Given the description of an element on the screen output the (x, y) to click on. 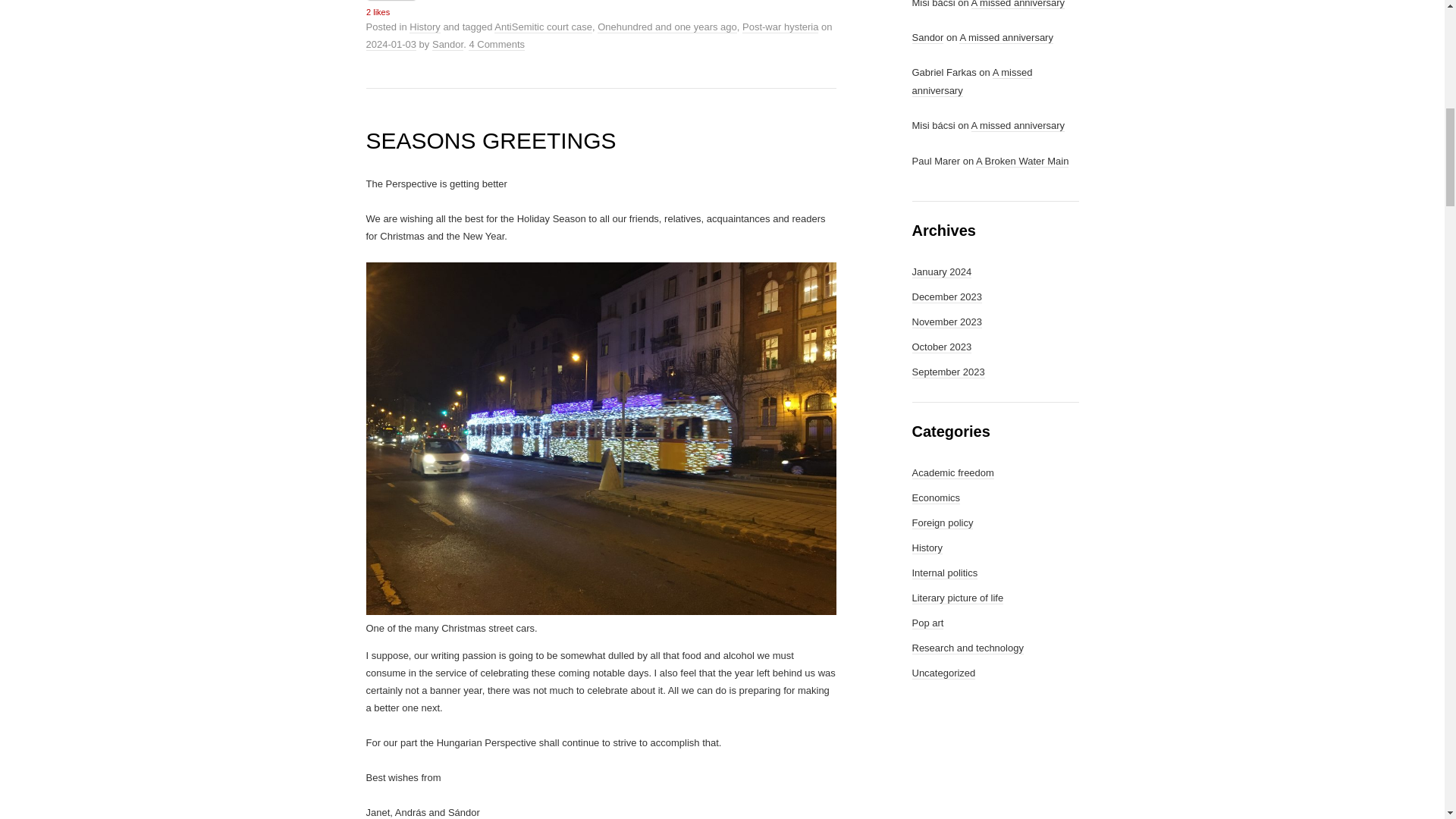
Like or Reblog (600, 9)
AntiSemitic court case (543, 27)
Onehundred and one years ago (666, 27)
History (424, 27)
SEASONS GREETINGS (490, 140)
10:34 pm (390, 44)
4 Comments (496, 44)
Sandor (447, 44)
View all posts by Sandor (447, 44)
Post-war hysteria (780, 27)
2024-01-03 (390, 44)
